Given the description of an element on the screen output the (x, y) to click on. 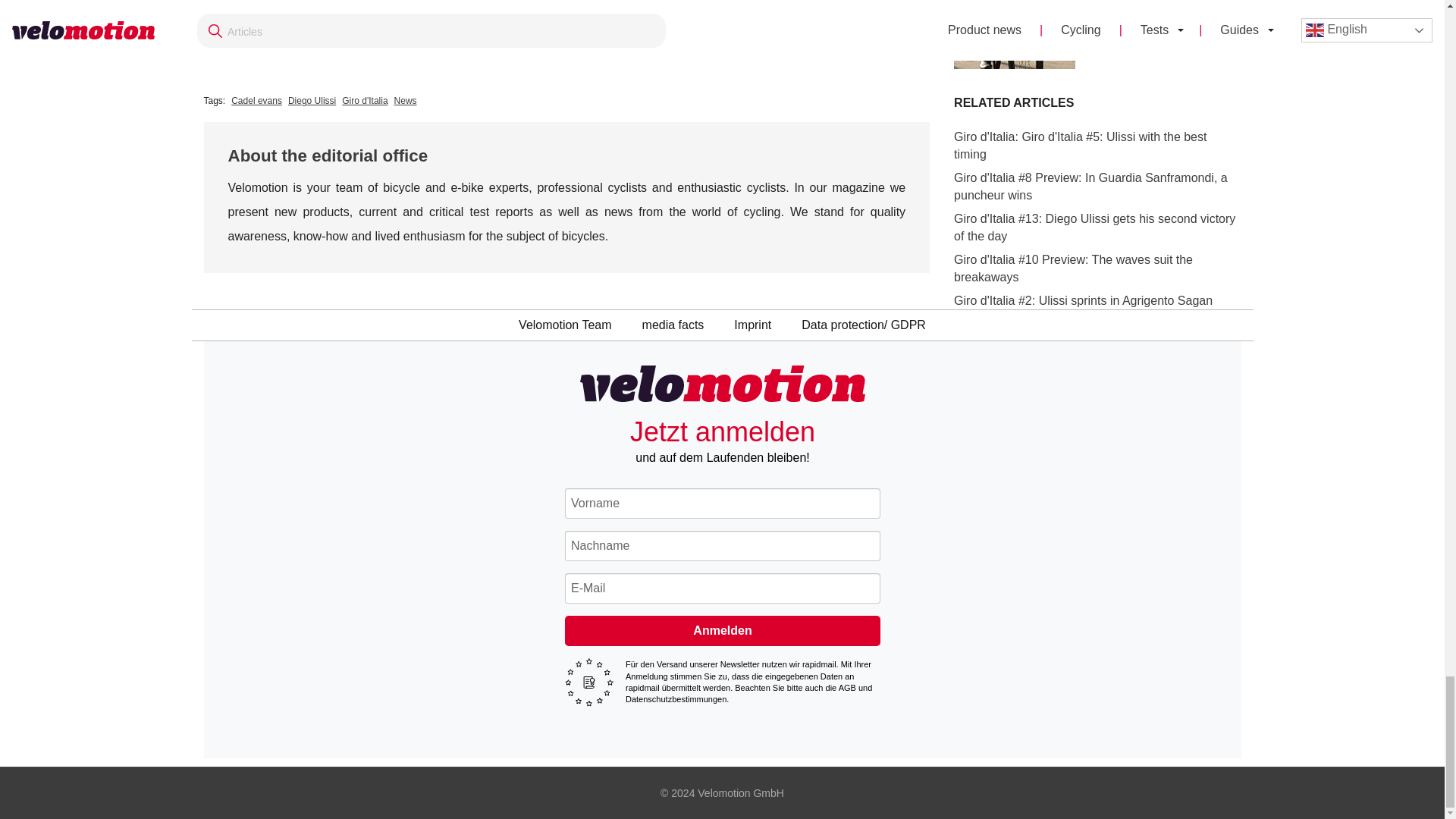
Cadel evans (256, 100)
